Given the description of an element on the screen output the (x, y) to click on. 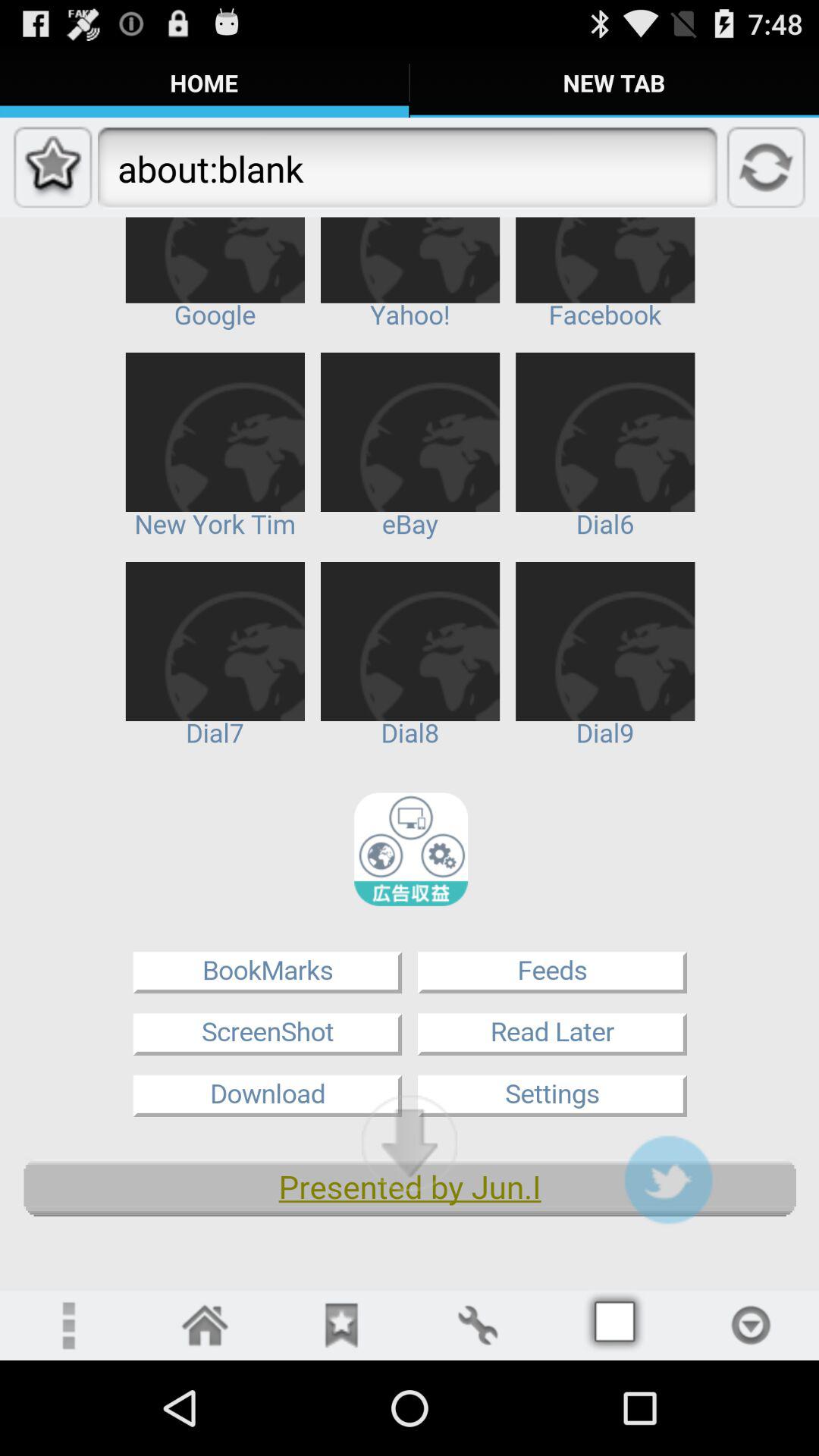
twitter symbol (668, 1179)
